Given the description of an element on the screen output the (x, y) to click on. 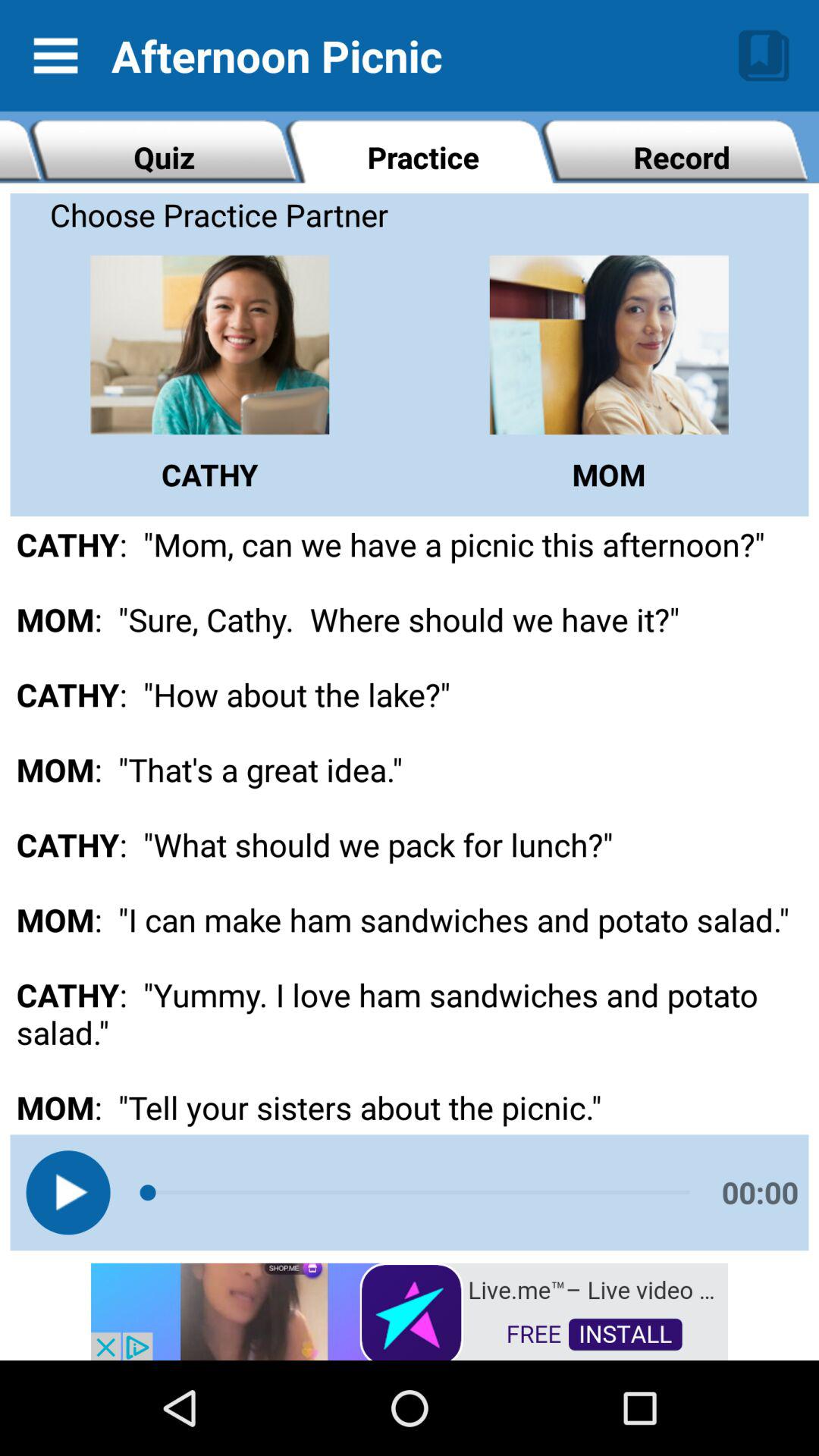
install app (409, 1310)
